Given the description of an element on the screen output the (x, y) to click on. 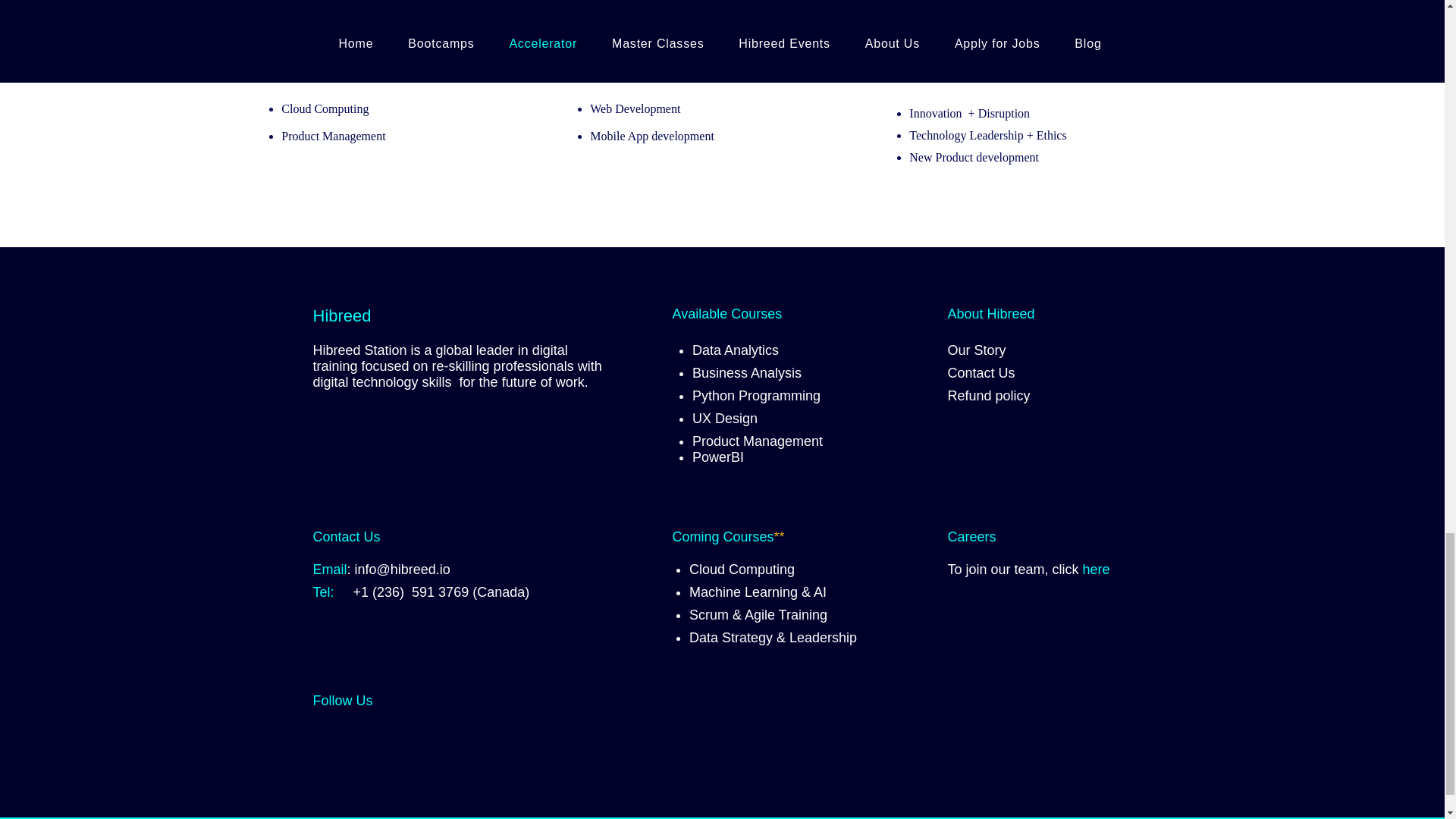
Our Story (976, 350)
UX Design (725, 418)
Data Analytics (735, 350)
Product Management (757, 441)
Business Analysis (747, 372)
